Given the description of an element on the screen output the (x, y) to click on. 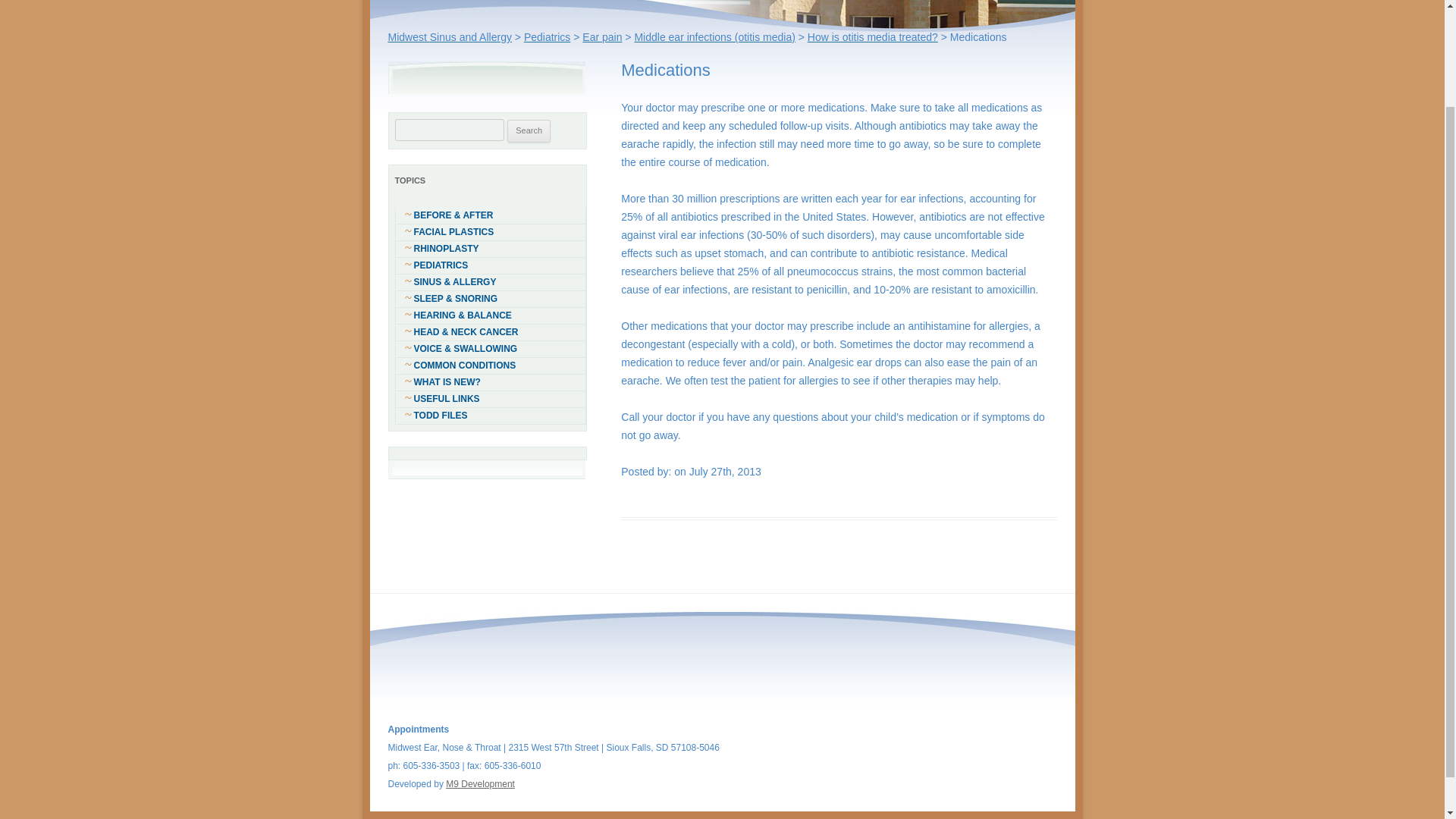
Go to How is otitis media treated?. (872, 37)
PEDIATRICS (490, 265)
COMMON CONDITIONS (490, 365)
Go to Ear pain. (601, 37)
How is otitis media treated? (872, 37)
FACIAL PLASTICS (490, 232)
RHINOPLASTY (490, 248)
Search (528, 130)
Ear pain (601, 37)
WHAT IS NEW? (490, 382)
Midwest Sinus and Allergy (450, 37)
M9 Development (480, 783)
Search (528, 130)
Pediatrics (547, 37)
Go to Midwest Sinus and Allergy. (450, 37)
